Given the description of an element on the screen output the (x, y) to click on. 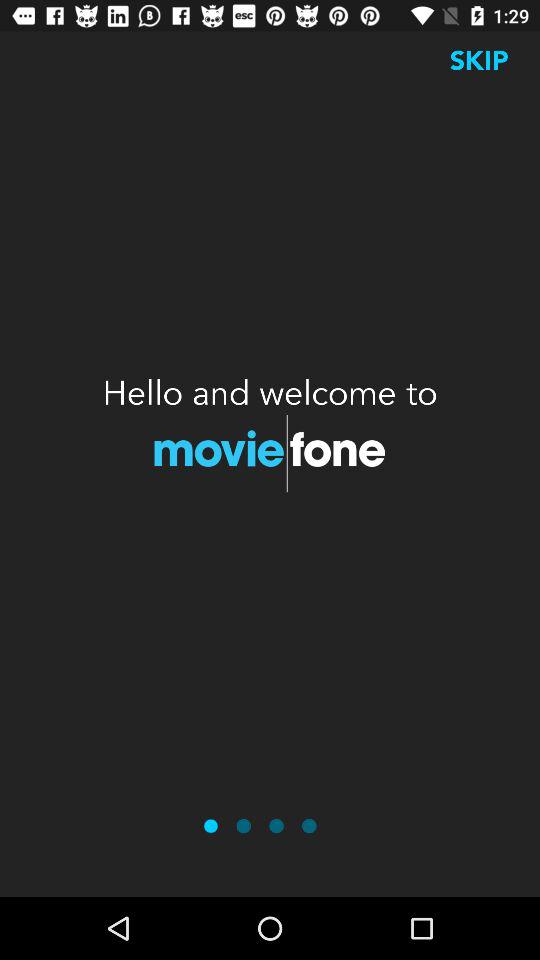
press skip item (479, 60)
